Given the description of an element on the screen output the (x, y) to click on. 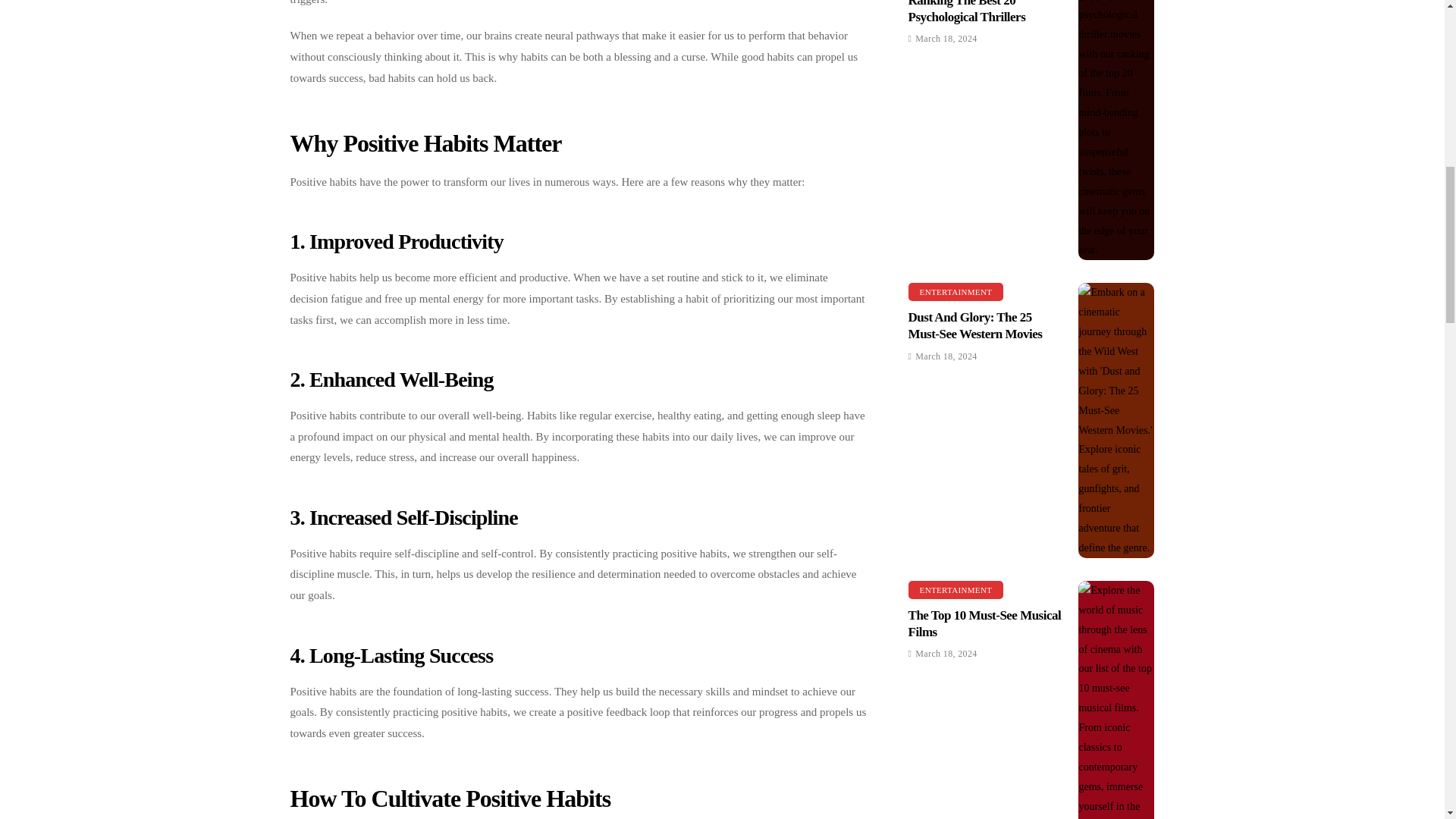
The Top 10 Must-See Musical Films (1116, 699)
Ranking The Best 20 Psychological Thrillers (1116, 130)
Dust and Glory: The 25 Must-See Western Movies (1116, 419)
